Given the description of an element on the screen output the (x, y) to click on. 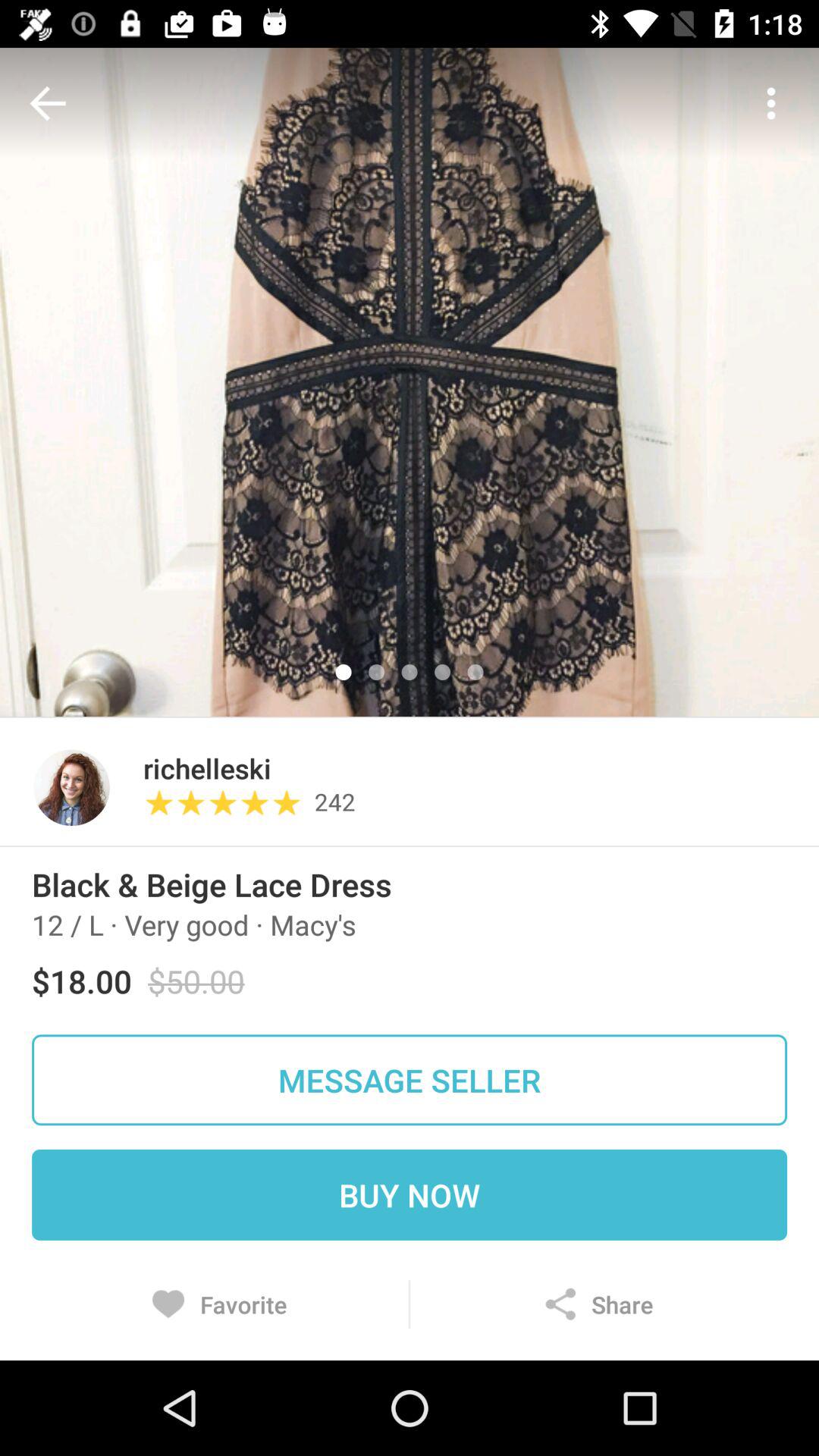
press icon next to richelleski item (71, 787)
